Given the description of an element on the screen output the (x, y) to click on. 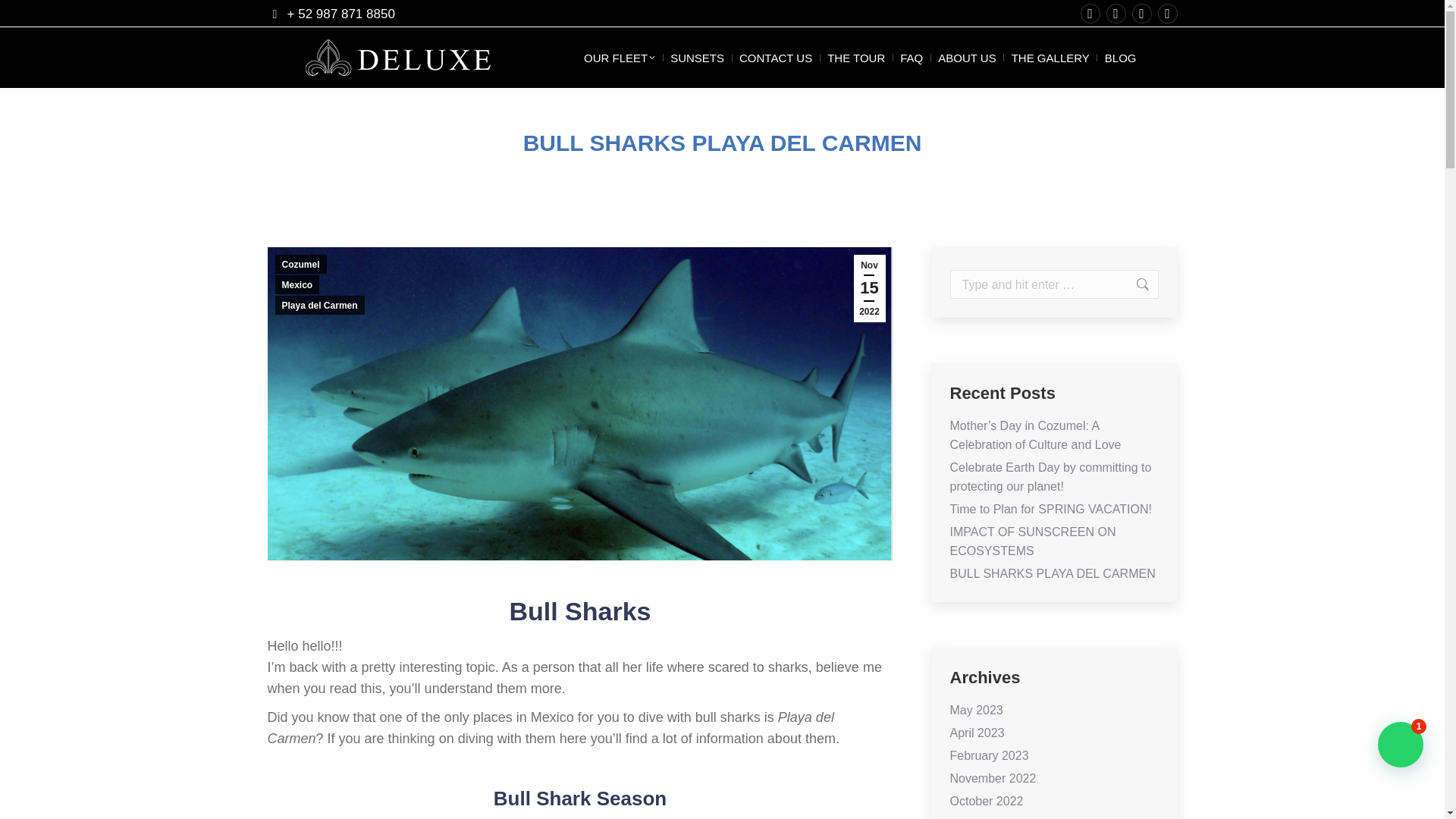
YouTube page opens in new window (1166, 13)
TripAdvisor page opens in new window (1115, 13)
ABOUT US (966, 56)
BLOG (1121, 56)
Instagram (312, 748)
THE TOUR (856, 56)
Facebook page opens in new window (1089, 13)
FAQ (911, 56)
Facebook page opens in new window (1089, 13)
Instagram page opens in new window (1141, 13)
Go! (1134, 284)
THE GALLERY (1051, 56)
SUNSETS (696, 56)
Instagram page opens in new window (1141, 13)
